Given the description of an element on the screen output the (x, y) to click on. 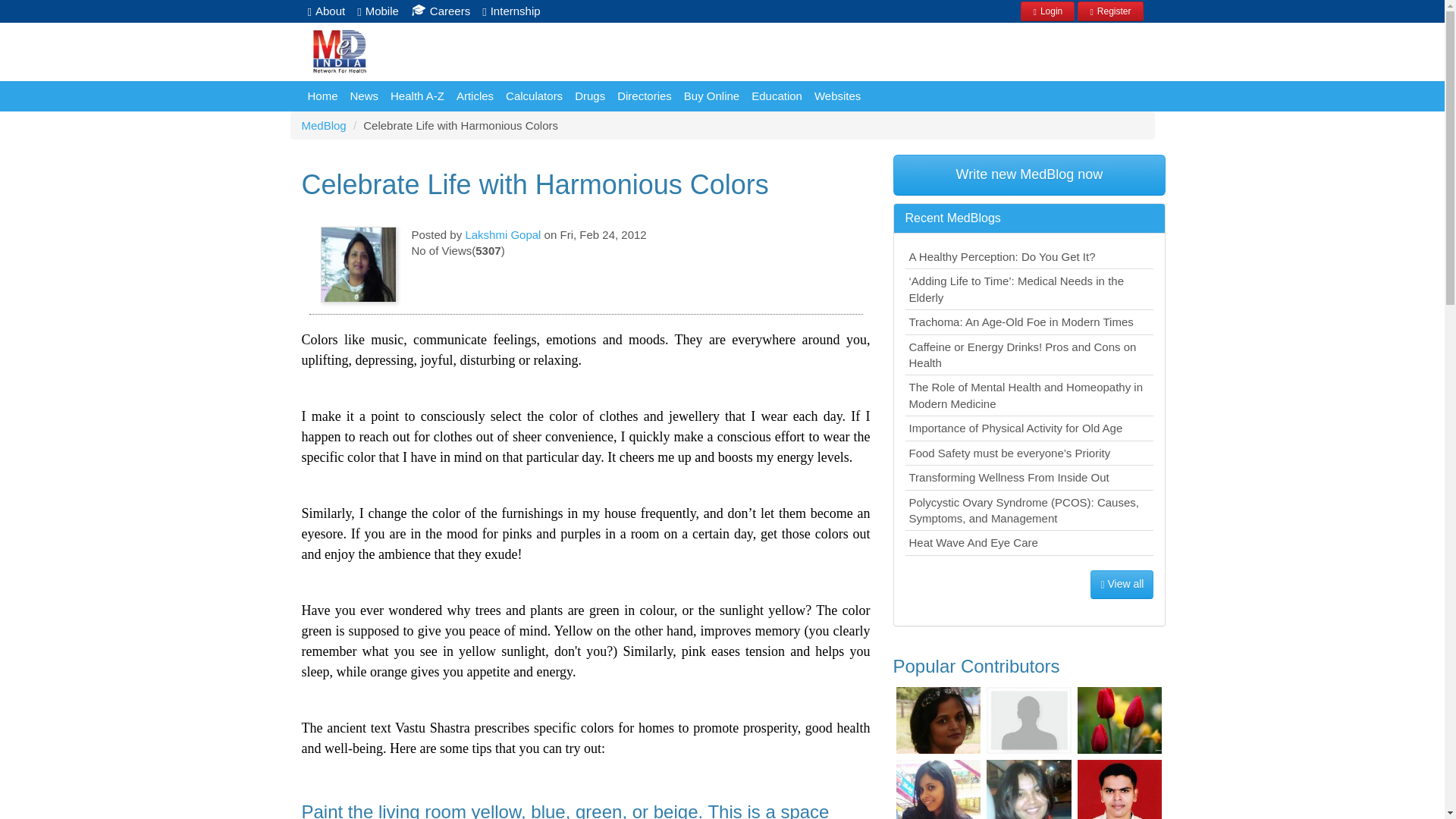
Antony76 (1119, 789)
News (364, 96)
Education (776, 96)
MedBlog (323, 124)
HannahSP (1119, 720)
About (326, 11)
Drugs (590, 96)
Websites (837, 96)
Register (1109, 9)
Careers (440, 11)
Internship (511, 11)
Register (1109, 11)
Login (1047, 9)
subnirmala (1029, 720)
A Healthy Perception: Do You Get It? (1029, 256)
